Given the description of an element on the screen output the (x, y) to click on. 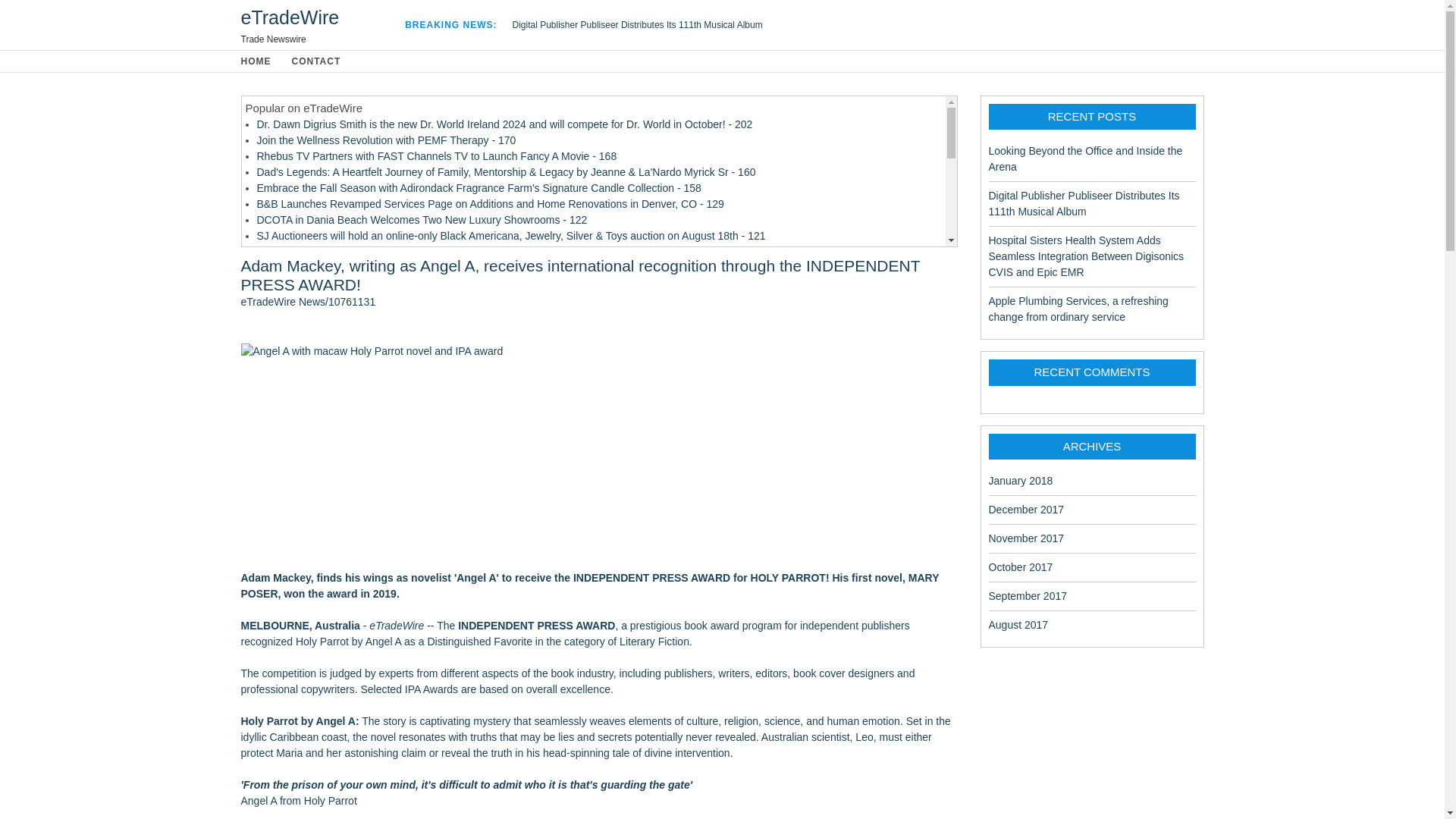
Frost Place Extends Hours During Foliage Season (374, 412)
Jesus' Project To End Persecution Of The Poor - 115 (379, 251)
HOME (258, 60)
The Dancing Caravan comes to ArtsWestchester's Gallery (392, 316)
